Given the description of an element on the screen output the (x, y) to click on. 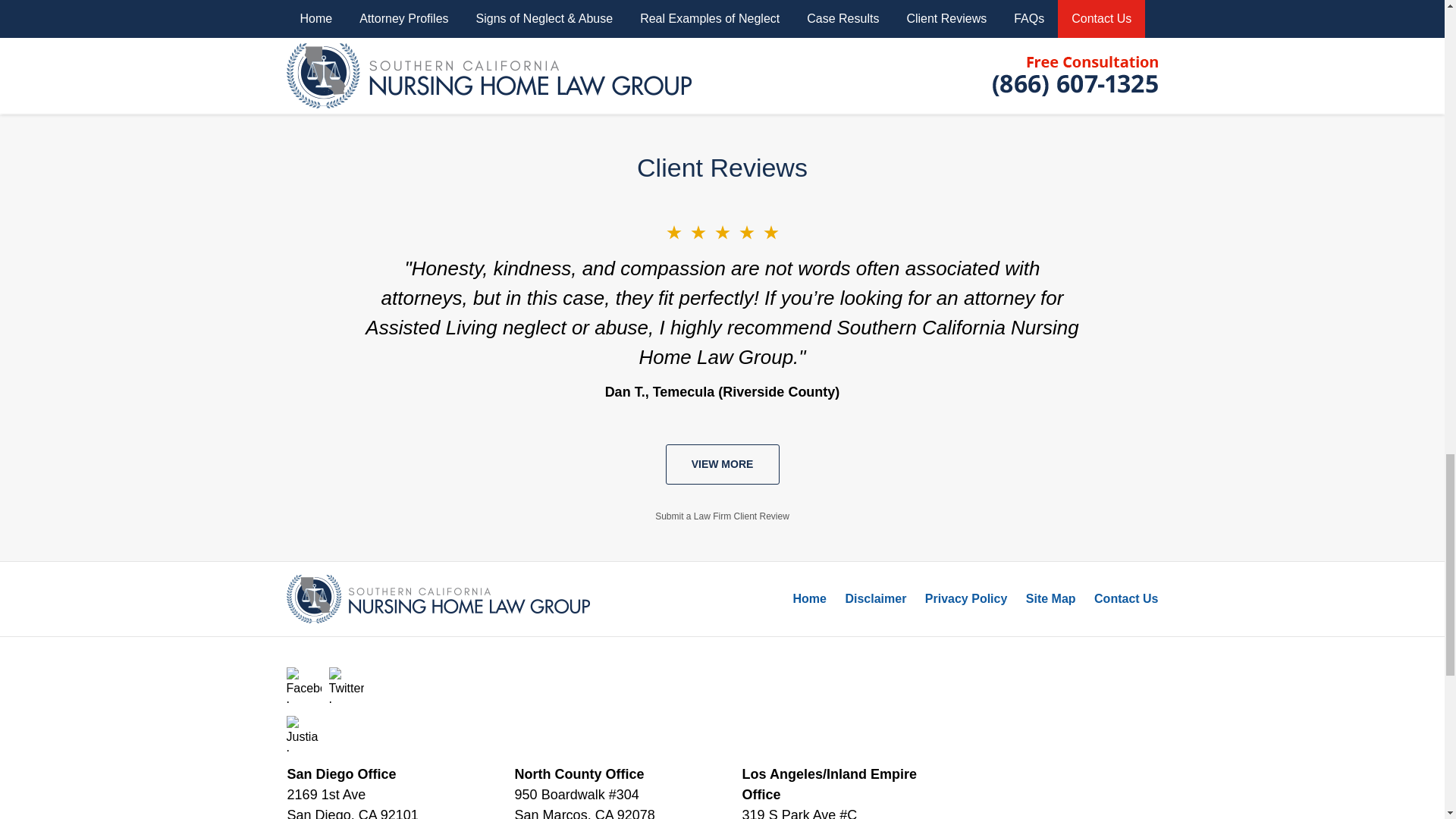
Contact the Southern California Nursing Home Law Group (474, 46)
Twitter (347, 684)
Facebook (303, 684)
Justia (303, 733)
